Given the description of an element on the screen output the (x, y) to click on. 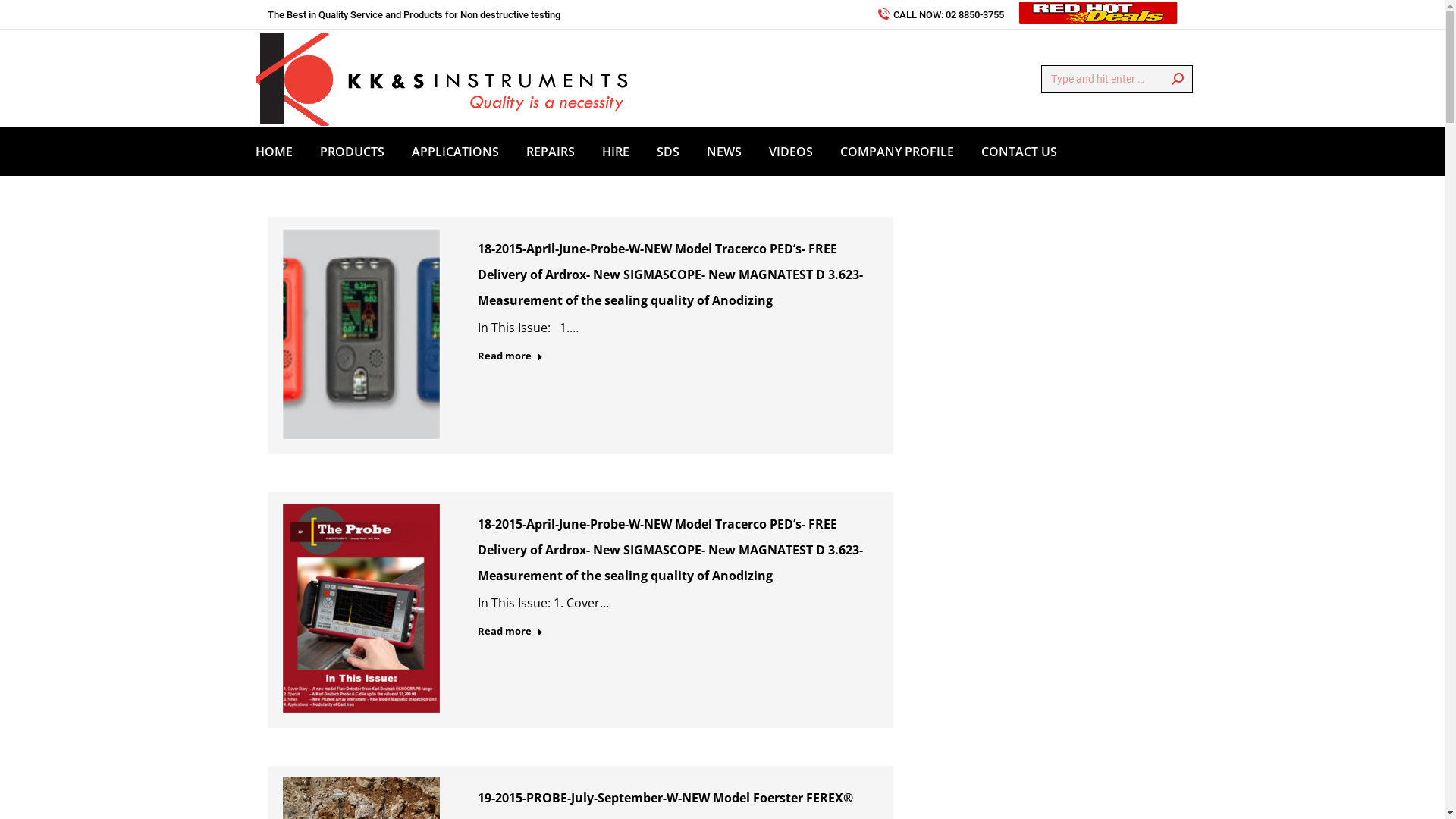
COMPANY PROFILE Element type: text (897, 151)
HIRE Element type: text (615, 151)
REPAIRS Element type: text (550, 151)
HOME Element type: text (272, 151)
APPLICATIONS Element type: text (454, 151)
VIDEOS Element type: text (790, 151)
the_probe_feb_16s Element type: hover (360, 608)
CALL NOW: 02 8850-3755 Element type: text (939, 14)
Go! Element type: text (23, 16)
Read more Element type: text (509, 358)
Read more Element type: text (509, 633)
Search form Element type: hover (1116, 78)
theprobeapril15s Element type: hover (360, 333)
SDS Element type: text (667, 151)
PRODUCTS Element type: text (351, 151)
CONTACT US Element type: text (1019, 151)
NEWS Element type: text (723, 151)
